Given the description of an element on the screen output the (x, y) to click on. 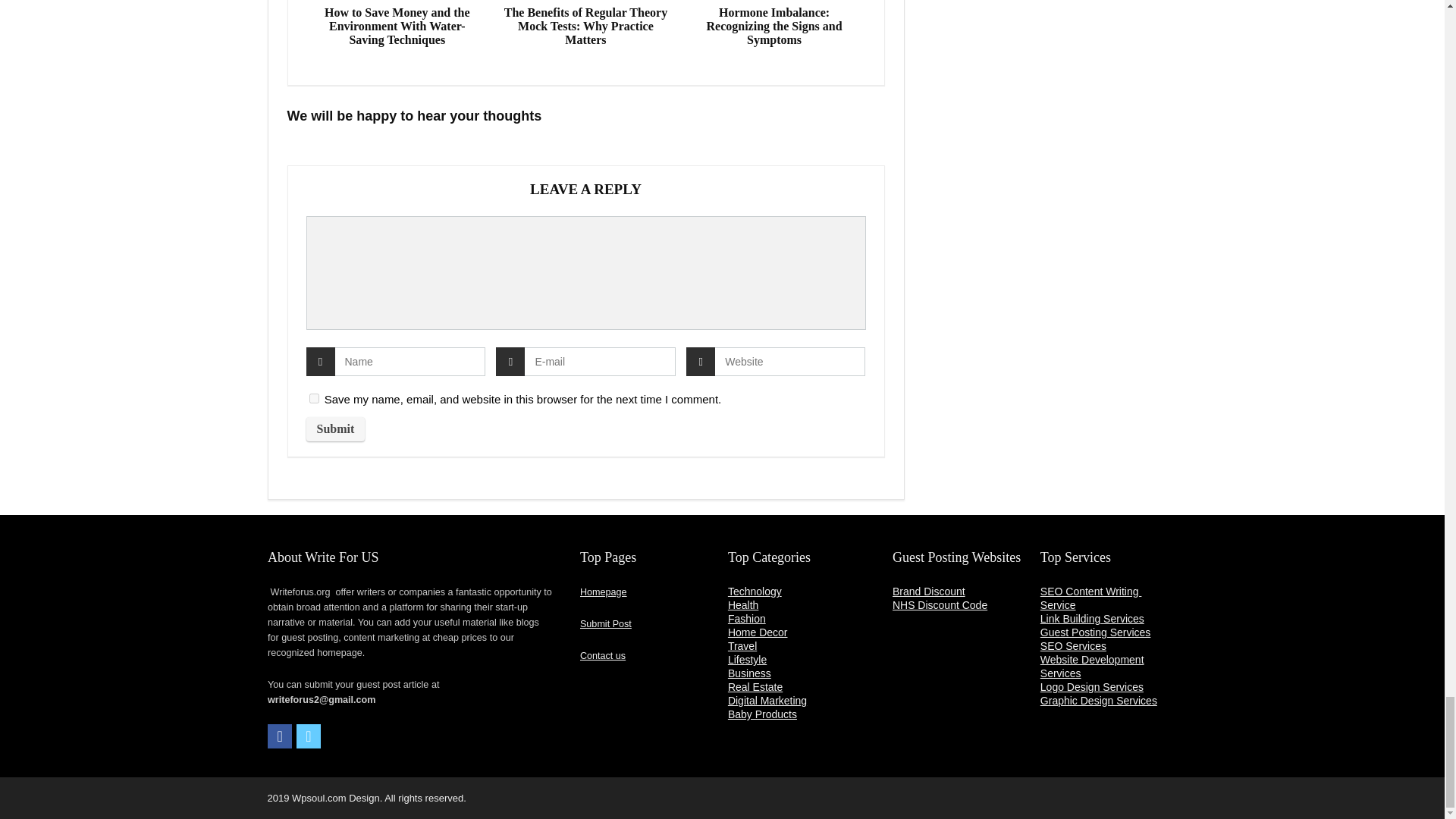
yes (313, 398)
Hormone Imbalance: Recognizing the Signs and Symptoms (774, 25)
Submit (335, 428)
